Given the description of an element on the screen output the (x, y) to click on. 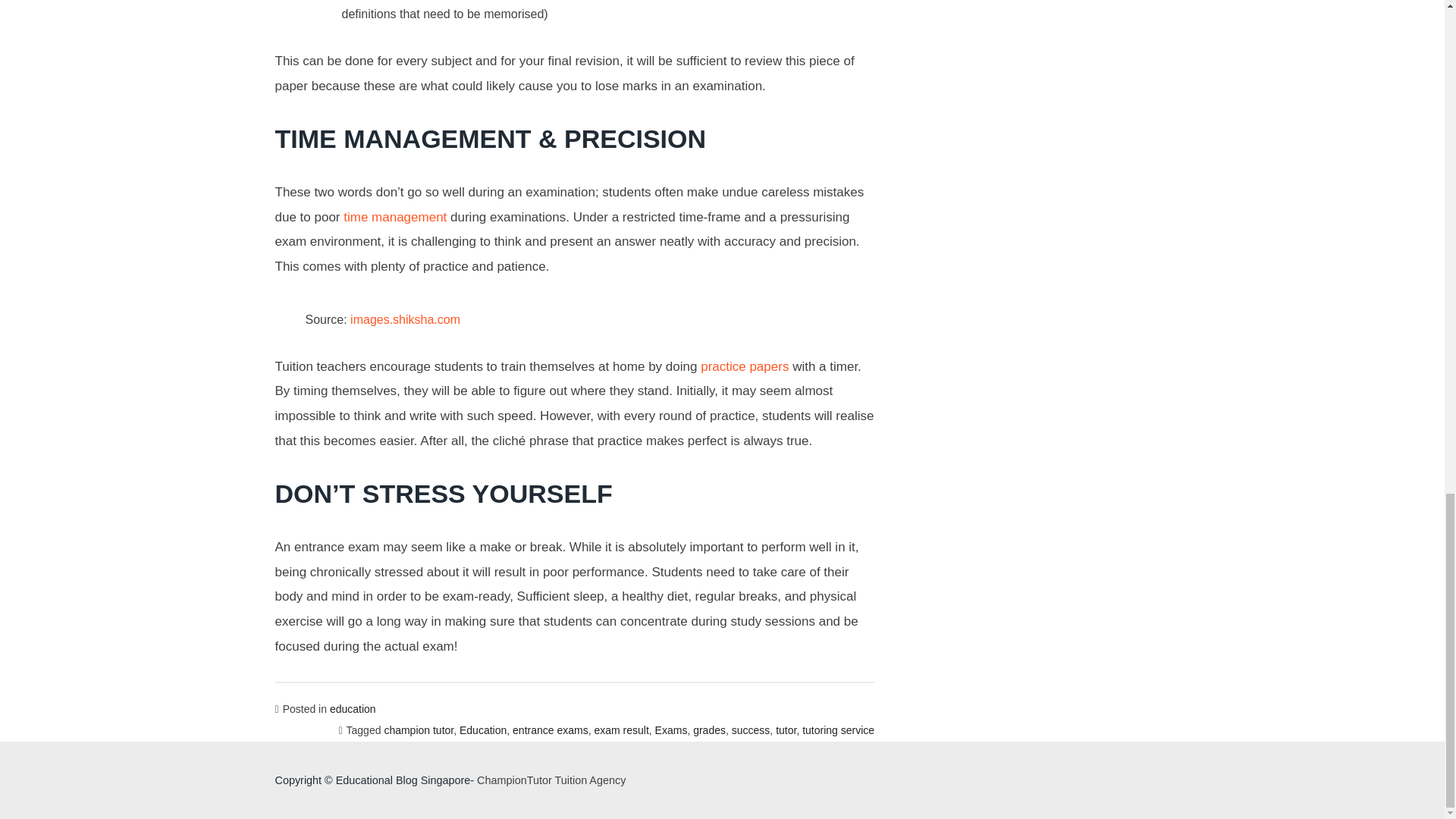
success (751, 729)
champion tutor (418, 729)
entrance exams (550, 729)
grades (709, 729)
education (352, 708)
practice papers (744, 366)
tutoring service (838, 729)
images.shiksha.com (405, 318)
tutor (786, 729)
Exams (671, 729)
Education (483, 729)
exam result (620, 729)
time management (394, 216)
